Given the description of an element on the screen output the (x, y) to click on. 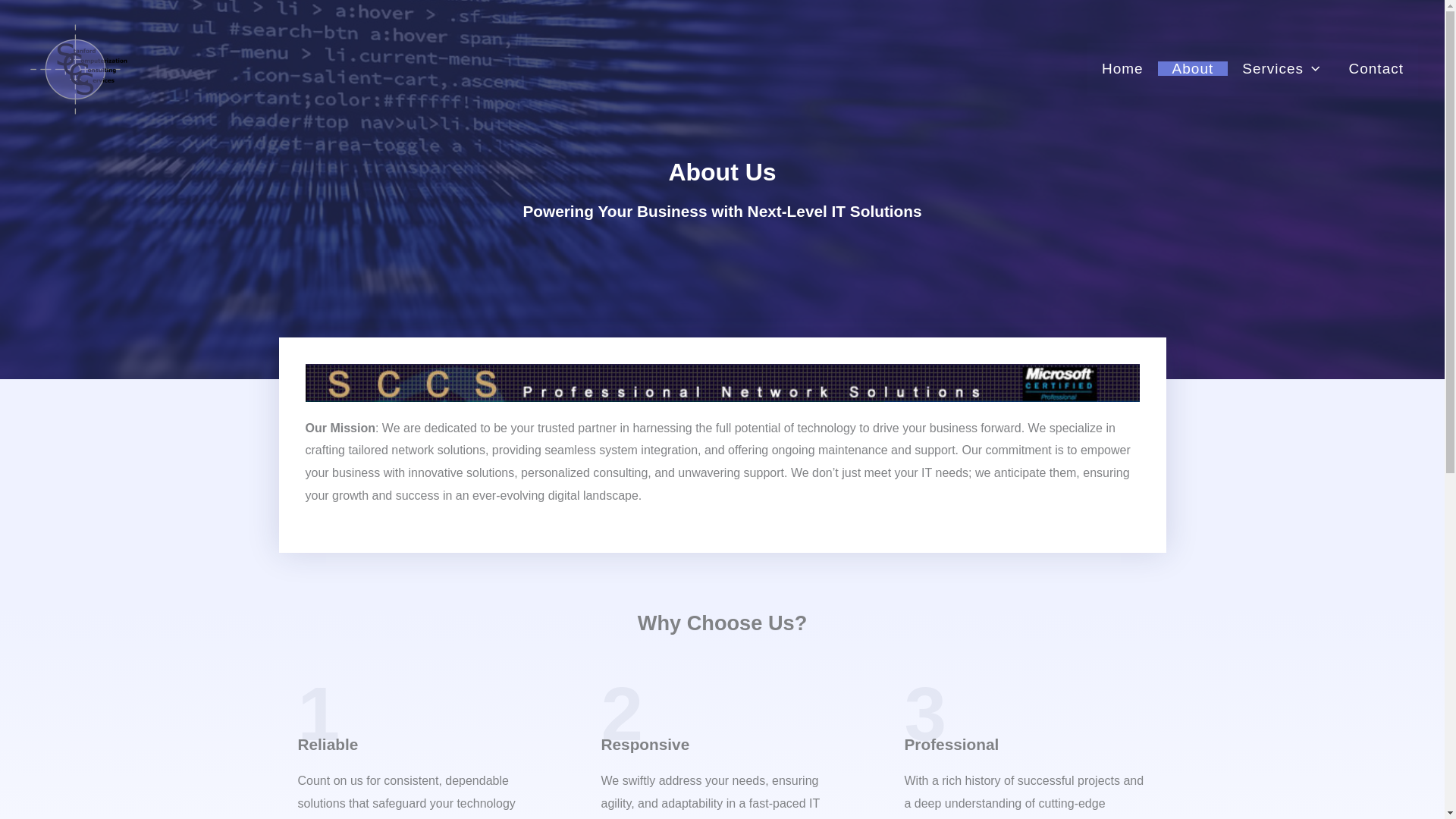
Contact (1376, 67)
Services (1280, 67)
Home (1122, 67)
About (1192, 67)
